Given the description of an element on the screen output the (x, y) to click on. 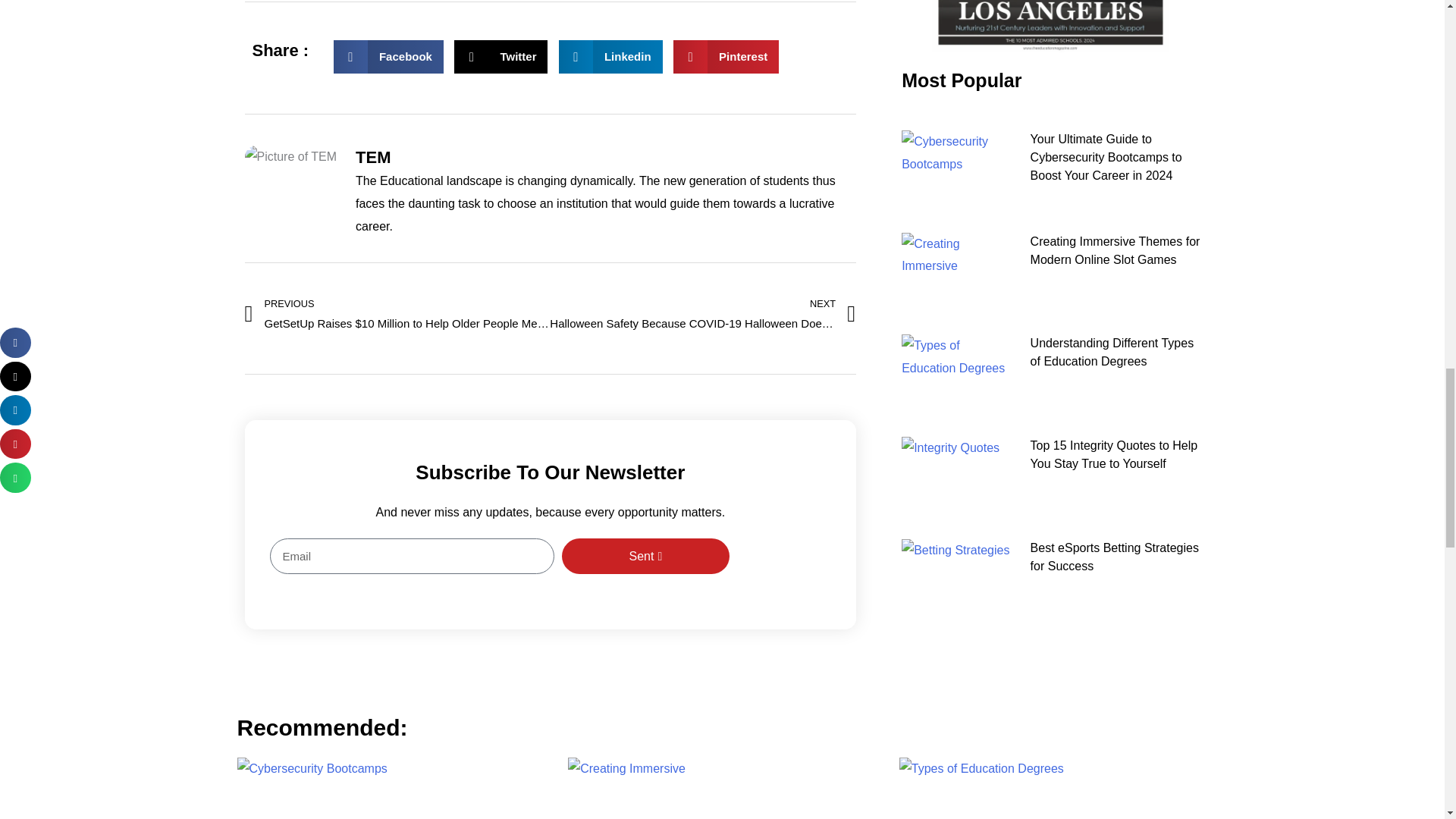
Sent (500, 56)
